Given the description of an element on the screen output the (x, y) to click on. 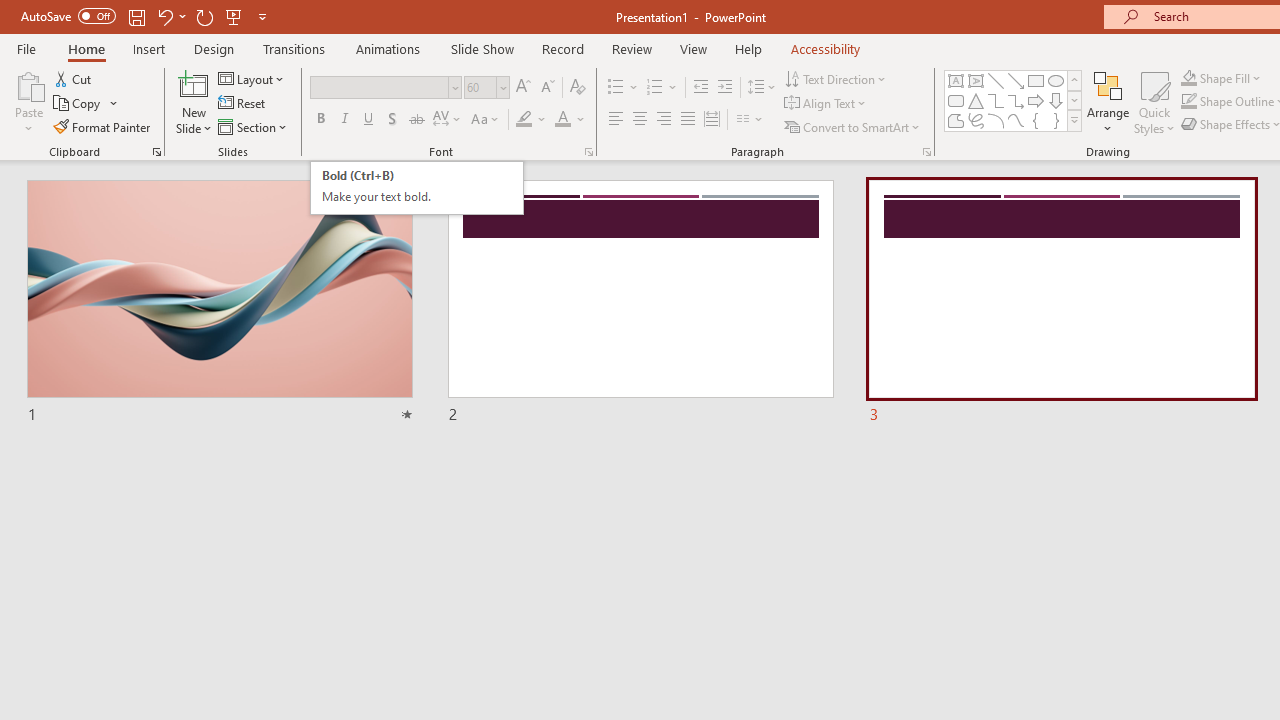
Line Arrow (1016, 80)
Right Brace (1055, 120)
Freeform: Scribble (975, 120)
Paste (28, 102)
Align Text (826, 103)
Rectangle: Rounded Corners (955, 100)
Font Color (569, 119)
New Slide (193, 84)
AutomationID: ShapesInsertGallery (1014, 100)
Copy (85, 103)
Font (379, 87)
Arc (995, 120)
Numbering (654, 87)
Align Left (616, 119)
Shadow (392, 119)
